Given the description of an element on the screen output the (x, y) to click on. 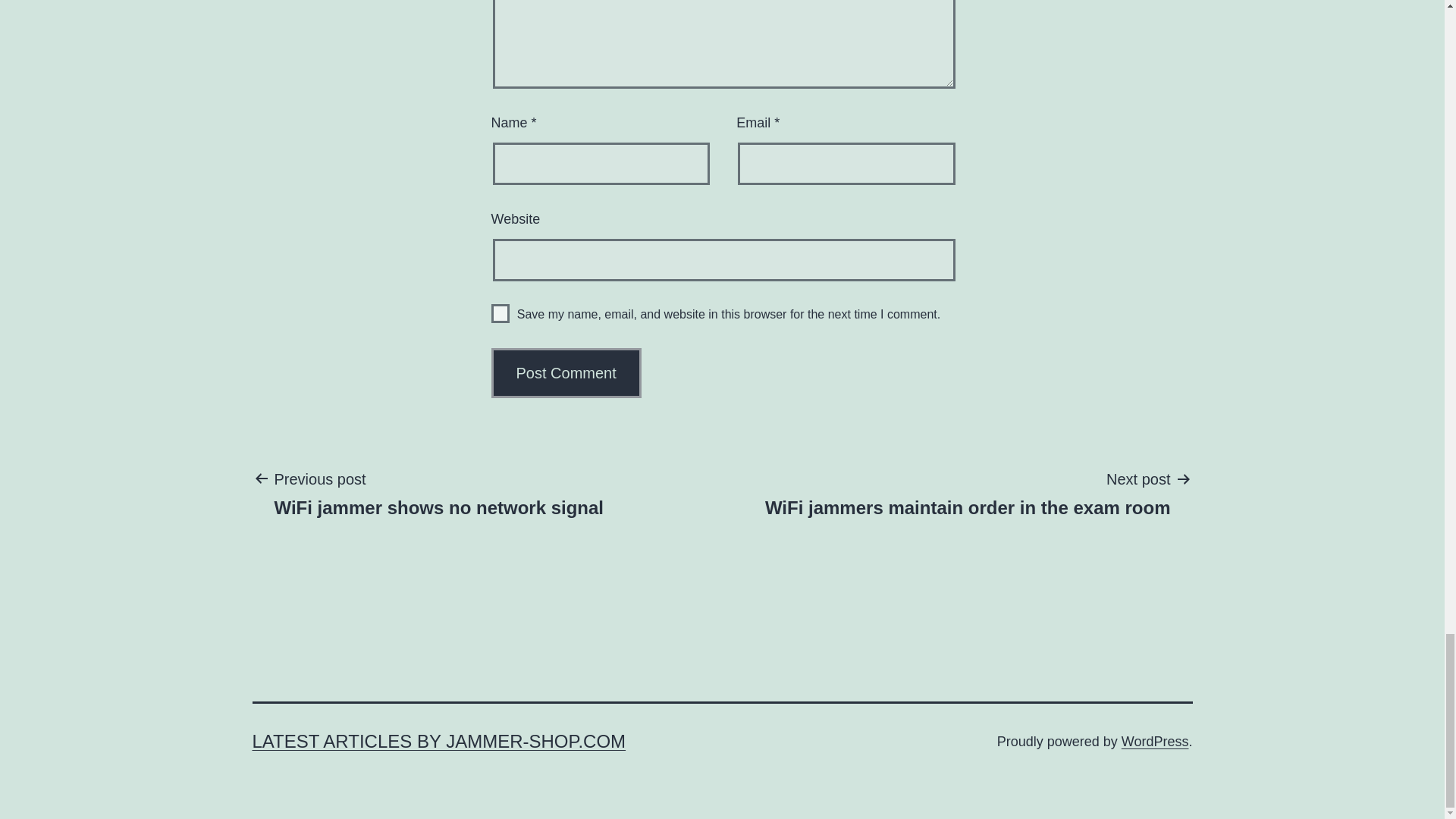
yes (967, 492)
Post Comment (500, 312)
WordPress (438, 492)
Post Comment (567, 373)
LATEST ARTICLES BY JAMMER-SHOP.COM (1155, 741)
